Given the description of an element on the screen output the (x, y) to click on. 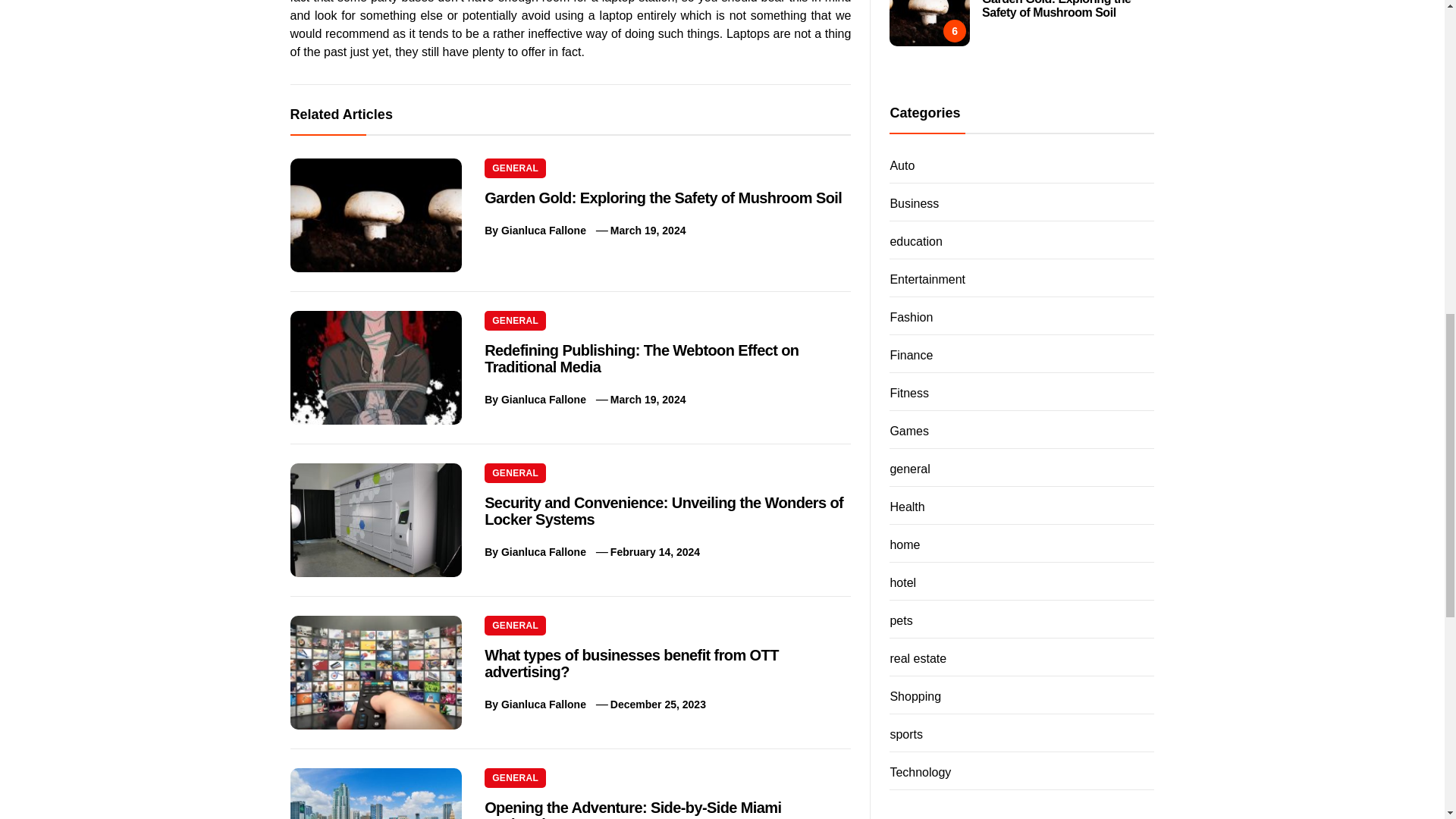
March 19, 2024 (647, 230)
Gianluca Fallone (543, 399)
What types of businesses benefit from OTT advertising? (631, 663)
GENERAL (515, 168)
Gianluca Fallone (543, 551)
February 14, 2024 (655, 551)
GENERAL (515, 320)
GENERAL (515, 473)
March 19, 2024 (647, 399)
Garden Gold: Exploring the Safety of Mushroom Soil (662, 197)
GENERAL (515, 625)
Gianluca Fallone (543, 230)
